Given the description of an element on the screen output the (x, y) to click on. 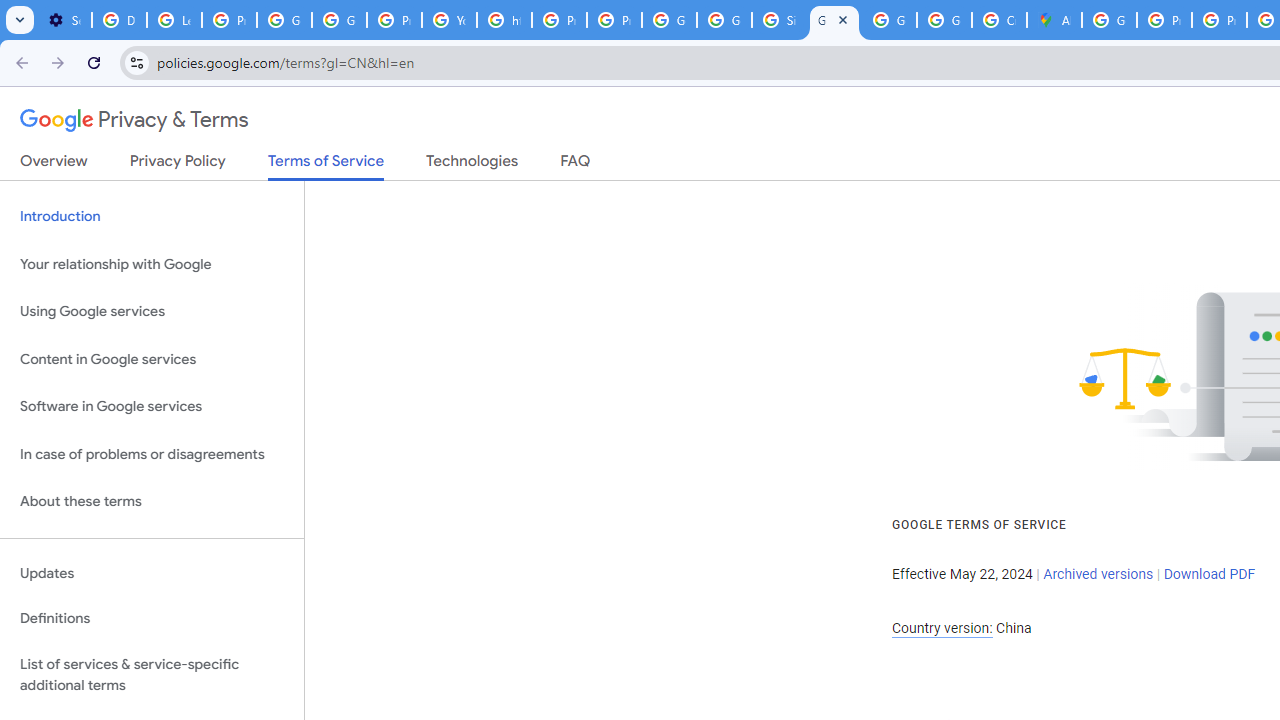
About these terms (152, 502)
Privacy Help Center - Policies Help (1218, 20)
Settings - On startup (64, 20)
Introduction (152, 216)
In case of problems or disagreements (152, 453)
Privacy Help Center - Policies Help (559, 20)
